Given the description of an element on the screen output the (x, y) to click on. 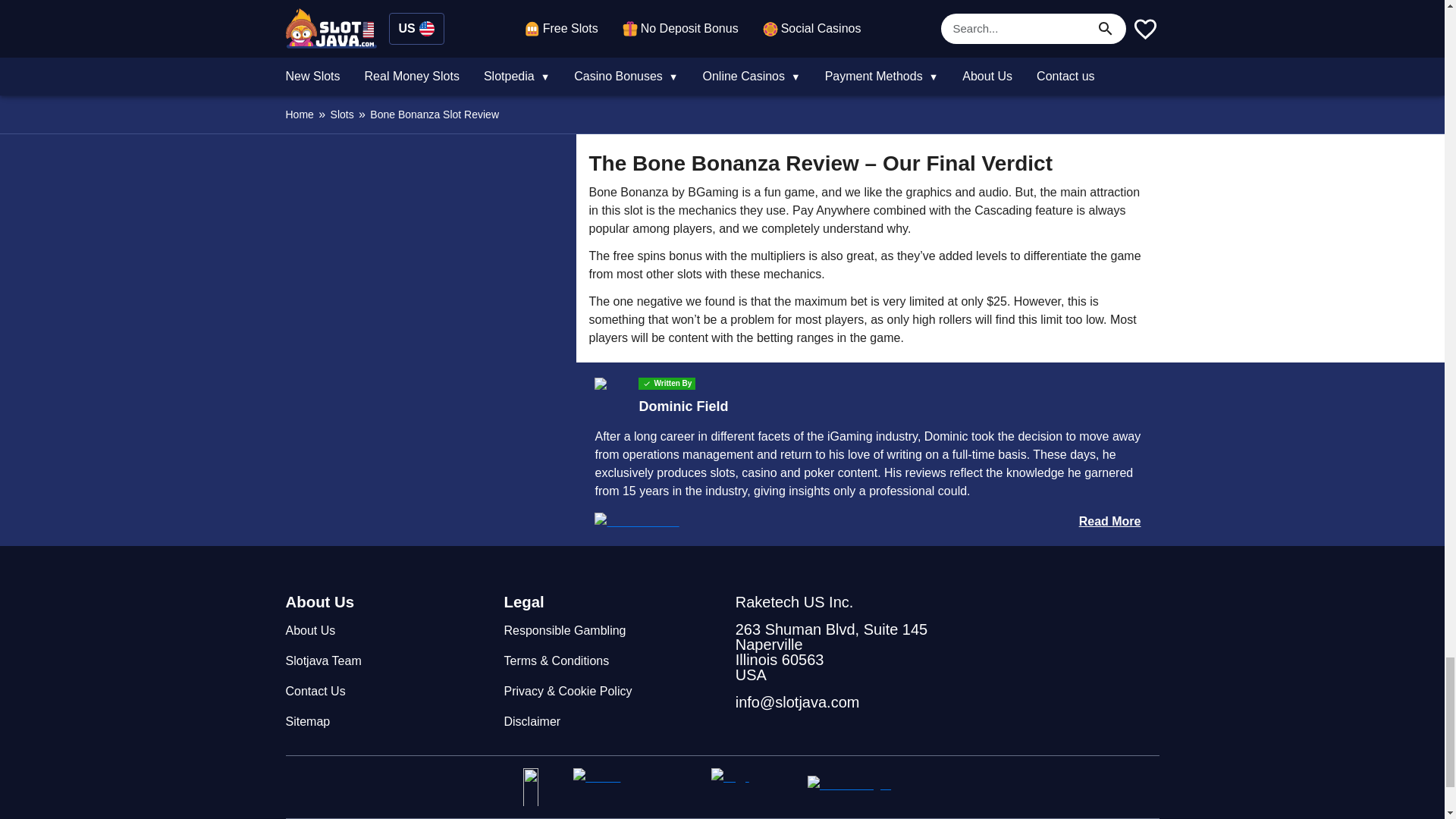
SlotJava.com partner (864, 786)
SlotJava.com partner (635, 786)
SlotJava.com partner (752, 786)
SlotJava.com partner (541, 786)
